Given the description of an element on the screen output the (x, y) to click on. 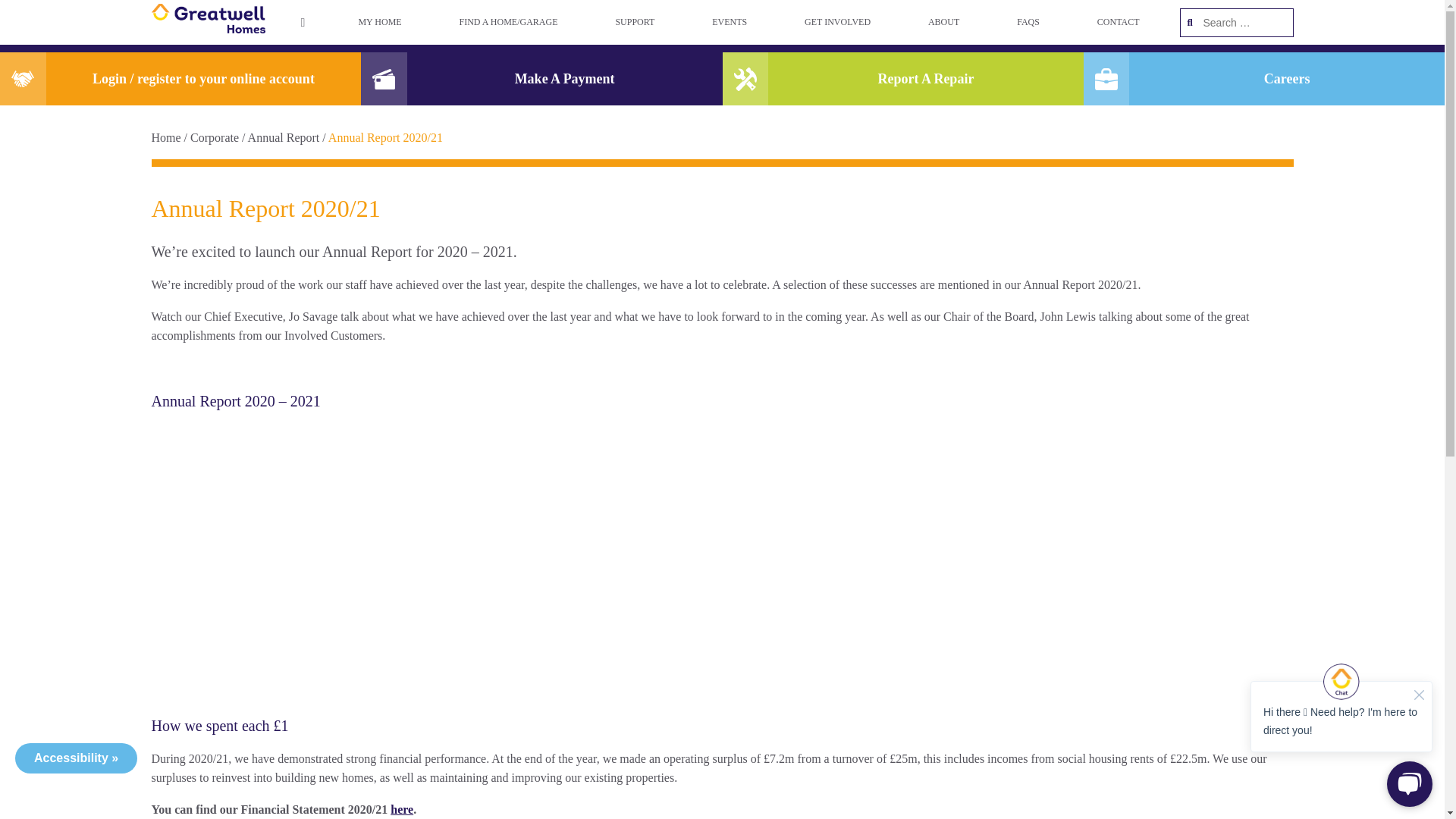
SUPPORT (634, 22)
MY HOME (379, 22)
Annual Report (283, 137)
Report A Repair (902, 78)
CONTACT (1118, 22)
Home (165, 137)
here (401, 809)
FAQS (1028, 22)
ABOUT (943, 22)
Make A Payment (541, 78)
Corporate (214, 137)
GET INVOLVED (837, 22)
EVENTS (729, 22)
YouTube video player (363, 544)
